Given the description of an element on the screen output the (x, y) to click on. 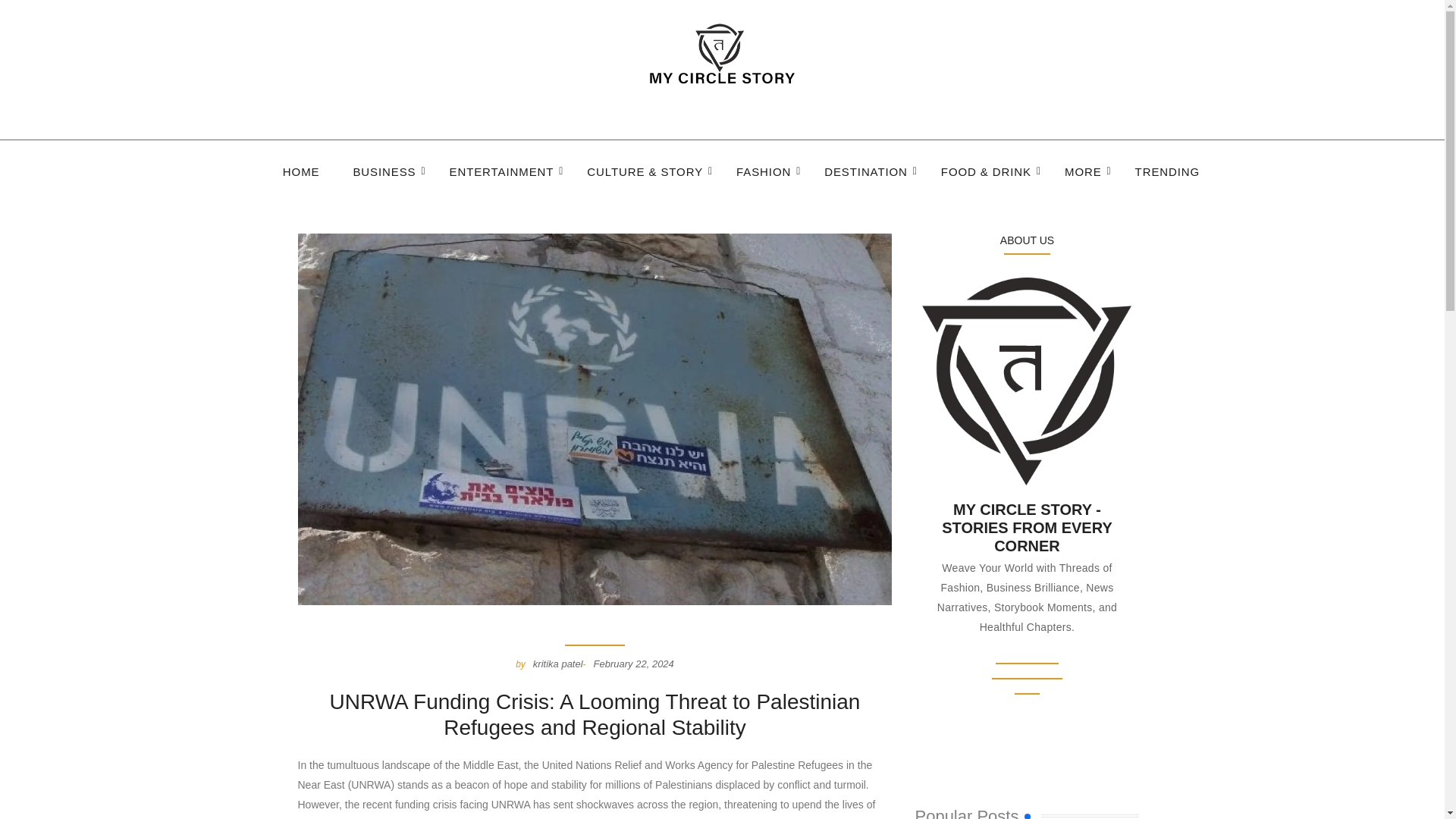
FASHION (762, 172)
ENTERTAINMENT (502, 172)
HOME (301, 172)
TRENDING (1167, 172)
BUSINESS (384, 172)
DESTINATION (866, 172)
MORE (1082, 172)
